Given the description of an element on the screen output the (x, y) to click on. 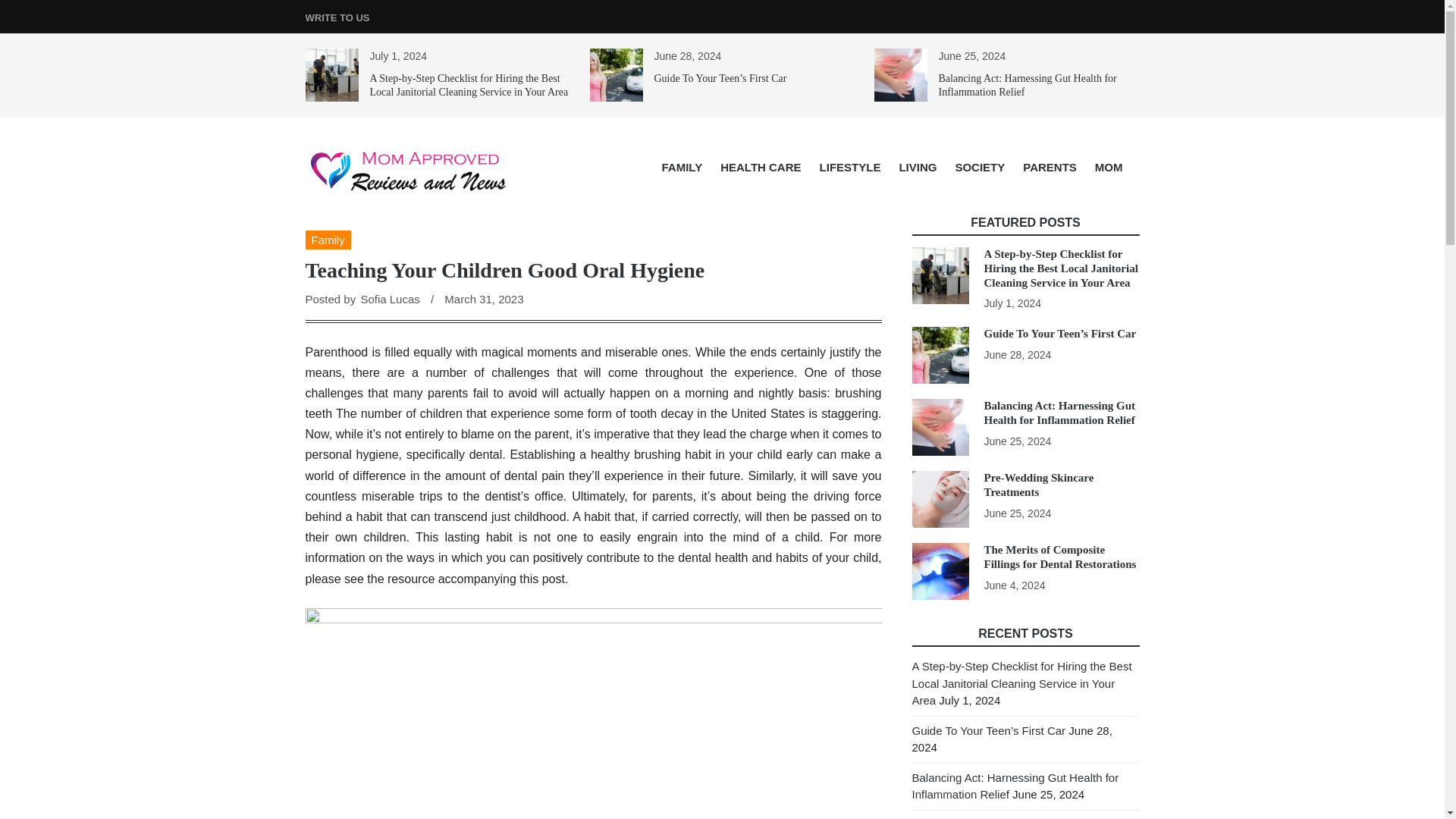
PARENTS (1049, 167)
Sofia Lucas (389, 298)
LIFESTYLE (849, 167)
SOCIETY (978, 167)
FAMILY (681, 167)
HEALTH CARE (760, 167)
Balancing Act: Harnessing Gut Health for Inflammation Relief (1027, 84)
LIVING (916, 167)
Posts by Sofia Lucas (389, 298)
Family (327, 239)
MOM (1109, 167)
WRITE TO US (336, 17)
